Given the description of an element on the screen output the (x, y) to click on. 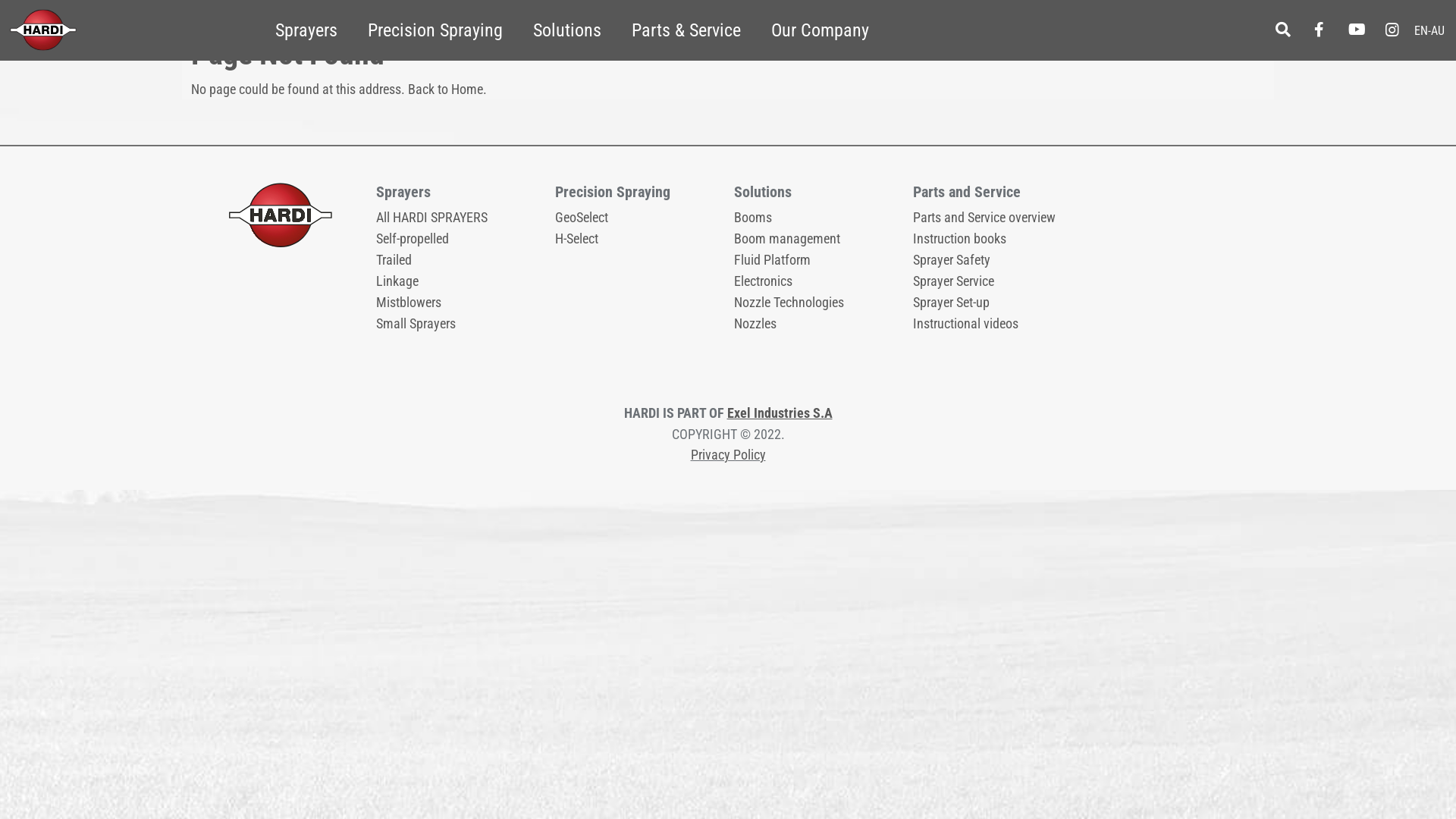
Sprayer Service Element type: text (953, 280)
Instruction books Element type: text (959, 238)
Sprayers Element type: text (306, 30)
Solutions Element type: text (567, 30)
Mistblowers Element type: text (408, 302)
Self-propelled Element type: text (412, 238)
GO Element type: text (18, 21)
Electronics Element type: text (763, 280)
Instructional videos Element type: text (965, 323)
Parts and Service overview Element type: text (984, 217)
Exel Industries S.A Element type: text (778, 412)
Sprayer Set-up Element type: text (951, 302)
All HARDI SPRAYERS Element type: text (431, 217)
Small Sprayers Element type: text (415, 323)
Nozzle Technologies Element type: text (789, 302)
Precision Spraying Element type: text (434, 30)
Boom management Element type: text (787, 238)
Booms Element type: text (752, 217)
H-Select Element type: text (576, 238)
Sprayer Safety Element type: text (951, 259)
Trailed Element type: text (393, 259)
Parts & Service Element type: text (685, 30)
Privacy Policy Element type: text (727, 454)
Our Company Element type: text (820, 30)
GeoSelect Element type: text (581, 217)
Fluid Platform Element type: text (772, 259)
Back to Home Element type: text (445, 89)
Linkage Element type: text (397, 280)
Nozzles Element type: text (755, 323)
